Given the description of an element on the screen output the (x, y) to click on. 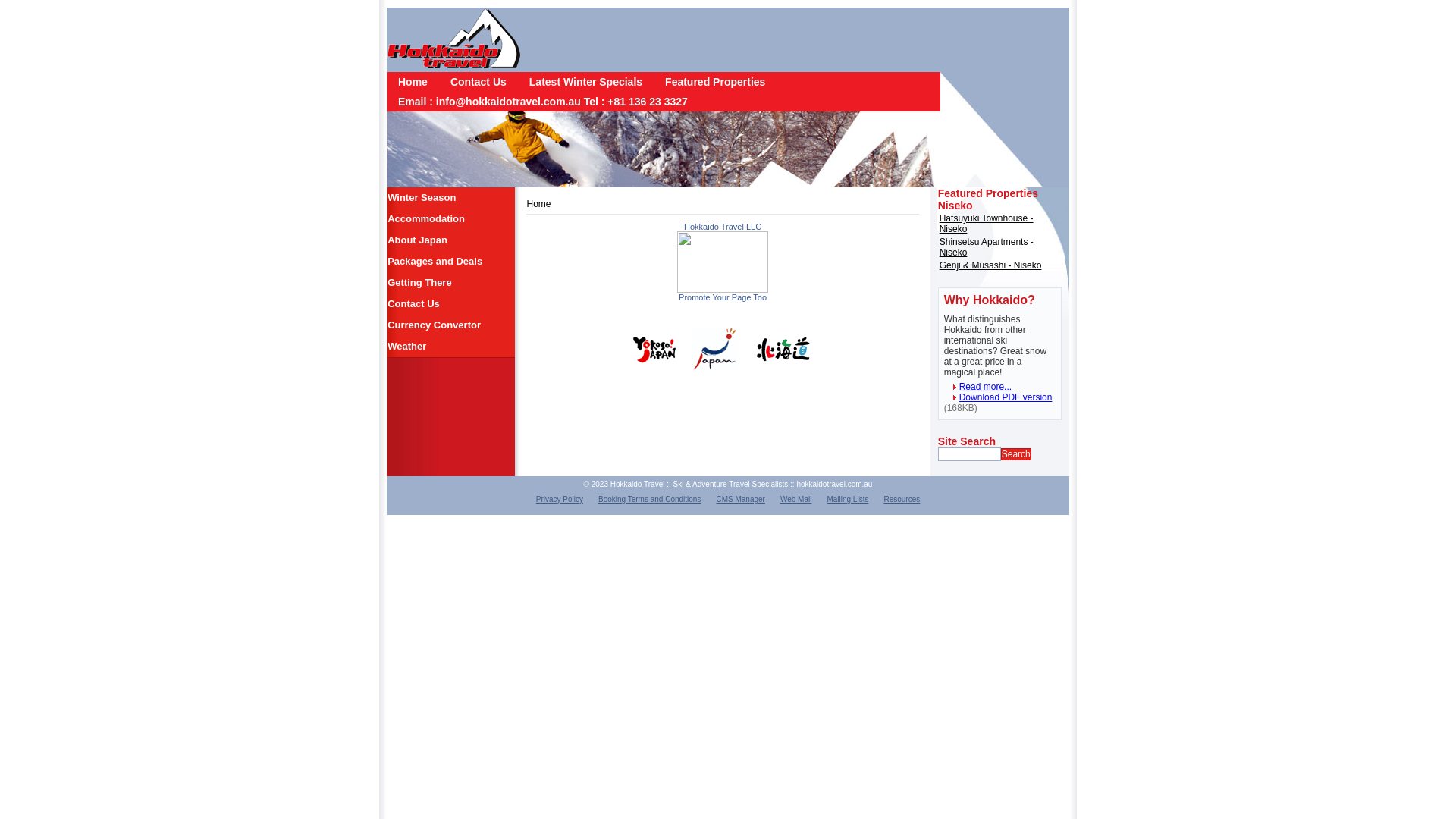
CMS Manager Element type: text (739, 499)
Hatsuyuki Townhouse - Niseko Element type: text (986, 223)
Genji & Musashi - Niseko Element type: text (990, 265)
Hokkaido Travel LLC Element type: text (722, 226)
Download PDF version Element type: text (998, 397)
Contact Us Element type: text (478, 81)
Hokkaido Travel LLC Element type: hover (722, 289)
Promote Your Page Too Element type: text (722, 296)
Search Element type: text (1016, 454)
Home Element type: text (412, 81)
Featured Properties Element type: text (714, 81)
Privacy Policy Element type: text (559, 499)
Booking Terms and Conditions Element type: text (649, 499)
Email : info@hokkaidotravel.com.au Tel : +81 136 23 3327 Element type: text (542, 101)
Shinsetsu Apartments - Niseko Element type: text (986, 246)
Read more... Element type: text (977, 386)
Mailing Lists Element type: text (847, 499)
Latest Winter Specials Element type: text (585, 81)
Web Mail Element type: text (796, 499)
Resources Element type: text (901, 499)
